Given the description of an element on the screen output the (x, y) to click on. 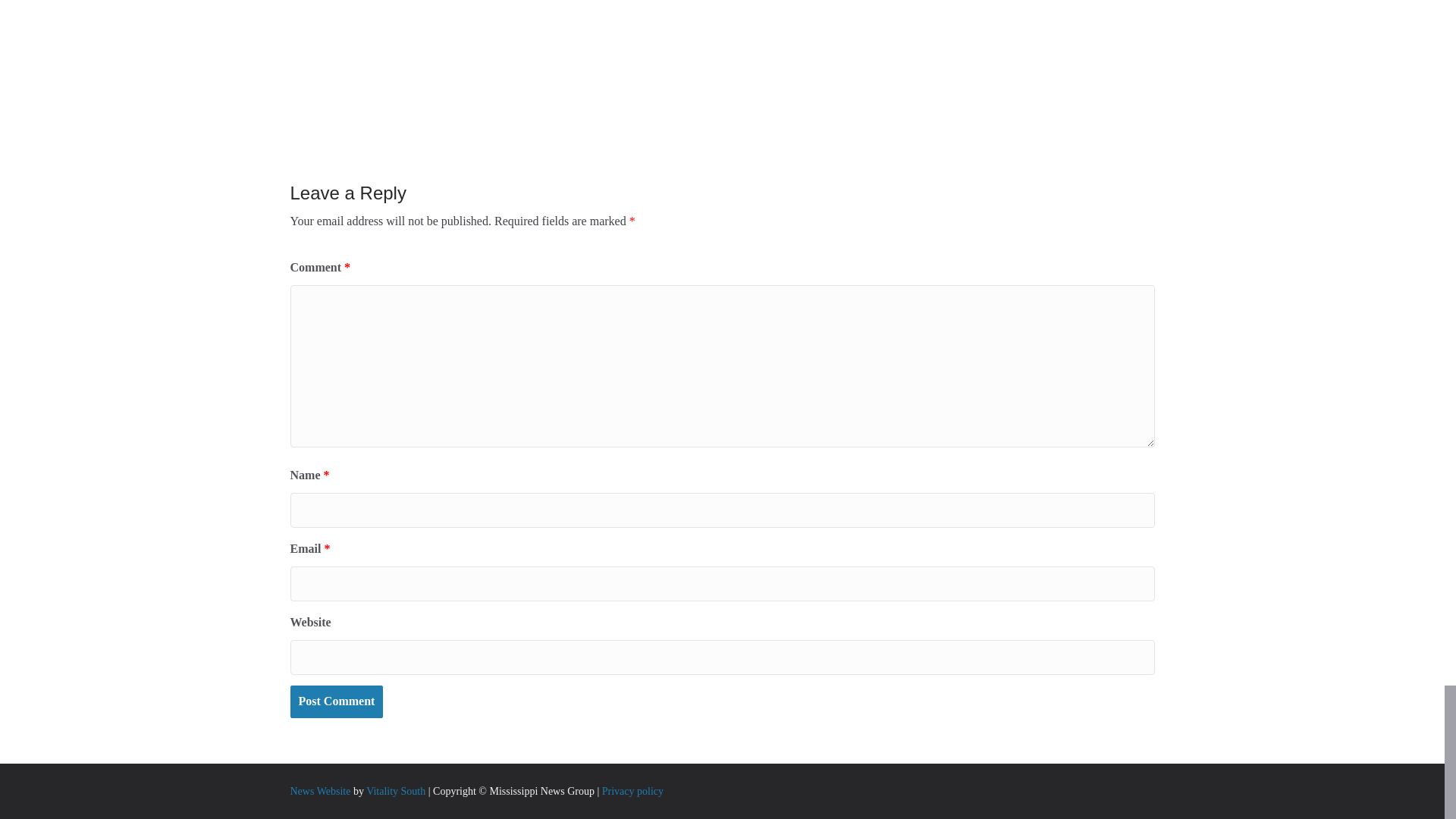
Post Comment (335, 701)
